Given the description of an element on the screen output the (x, y) to click on. 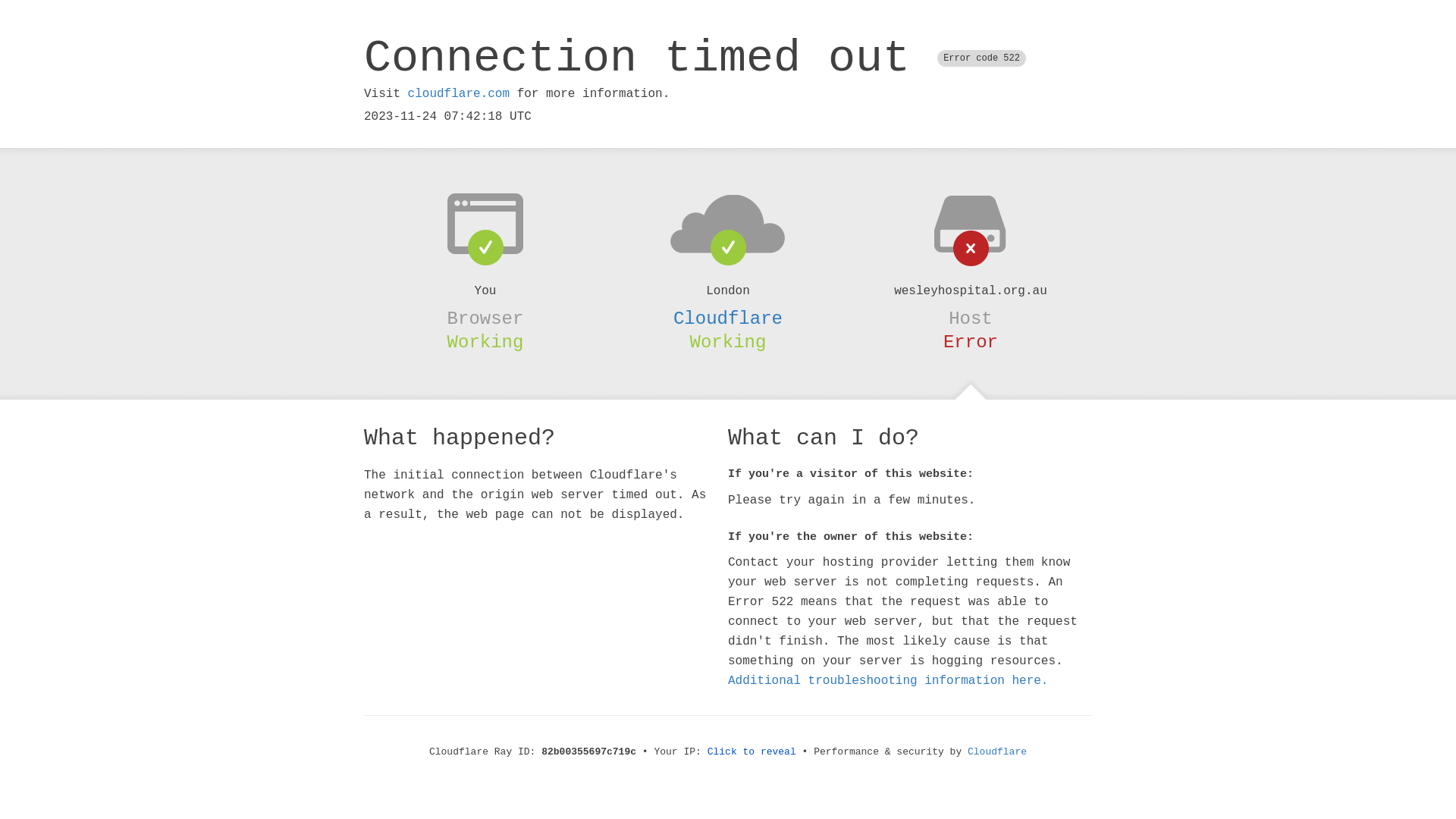
Cloudflare Element type: text (727, 318)
Cloudflare Element type: text (996, 751)
cloudflare.com Element type: text (458, 93)
Additional troubleshooting information here. Element type: text (888, 680)
Click to reveal Element type: text (751, 751)
